Given the description of an element on the screen output the (x, y) to click on. 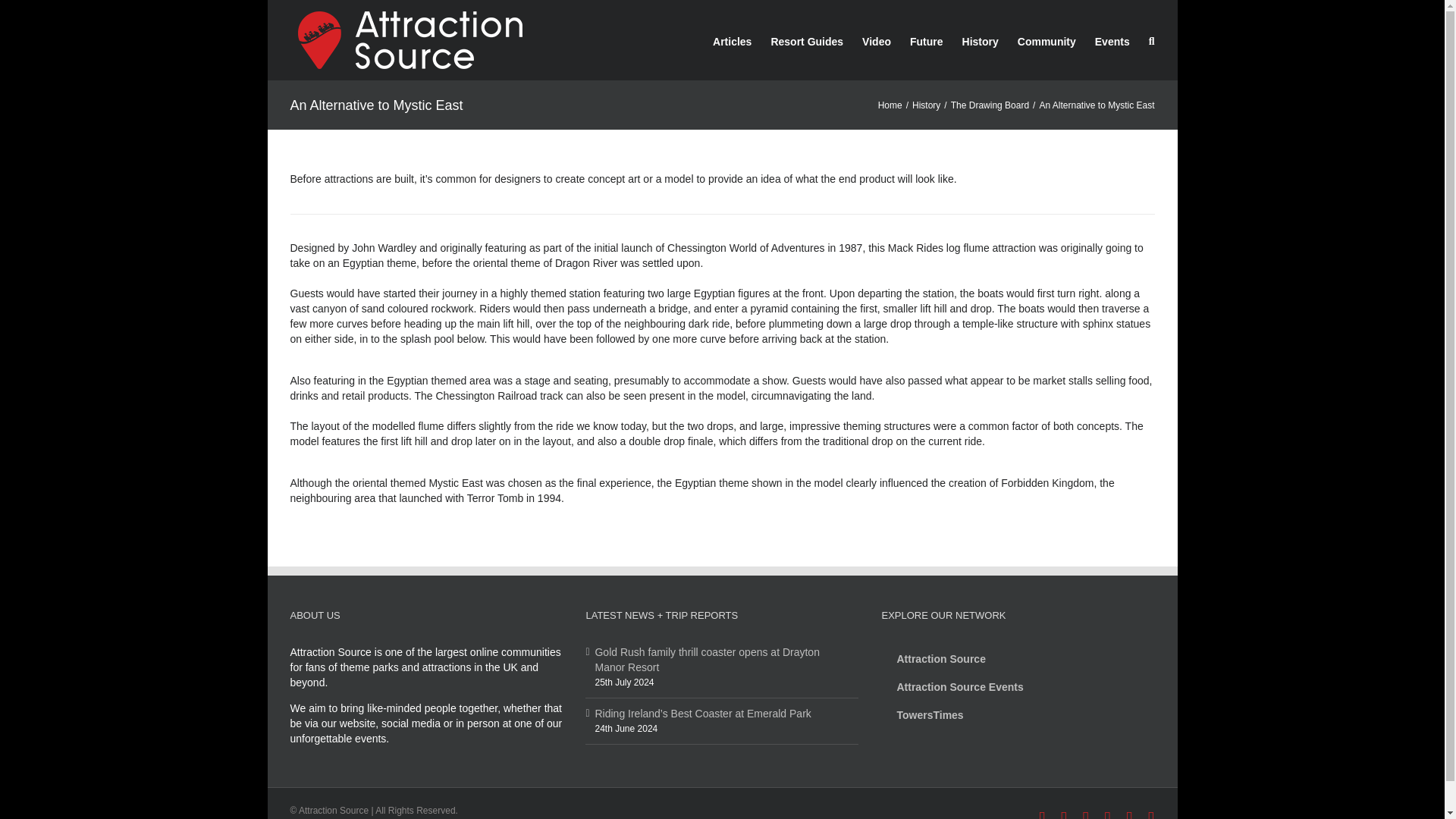
Attraction Source Events (1016, 687)
The Drawing Board (989, 104)
Resort Guides (806, 40)
TowersTimes (1016, 714)
Attraction Source (1016, 658)
Home (889, 104)
History (926, 104)
